Given the description of an element on the screen output the (x, y) to click on. 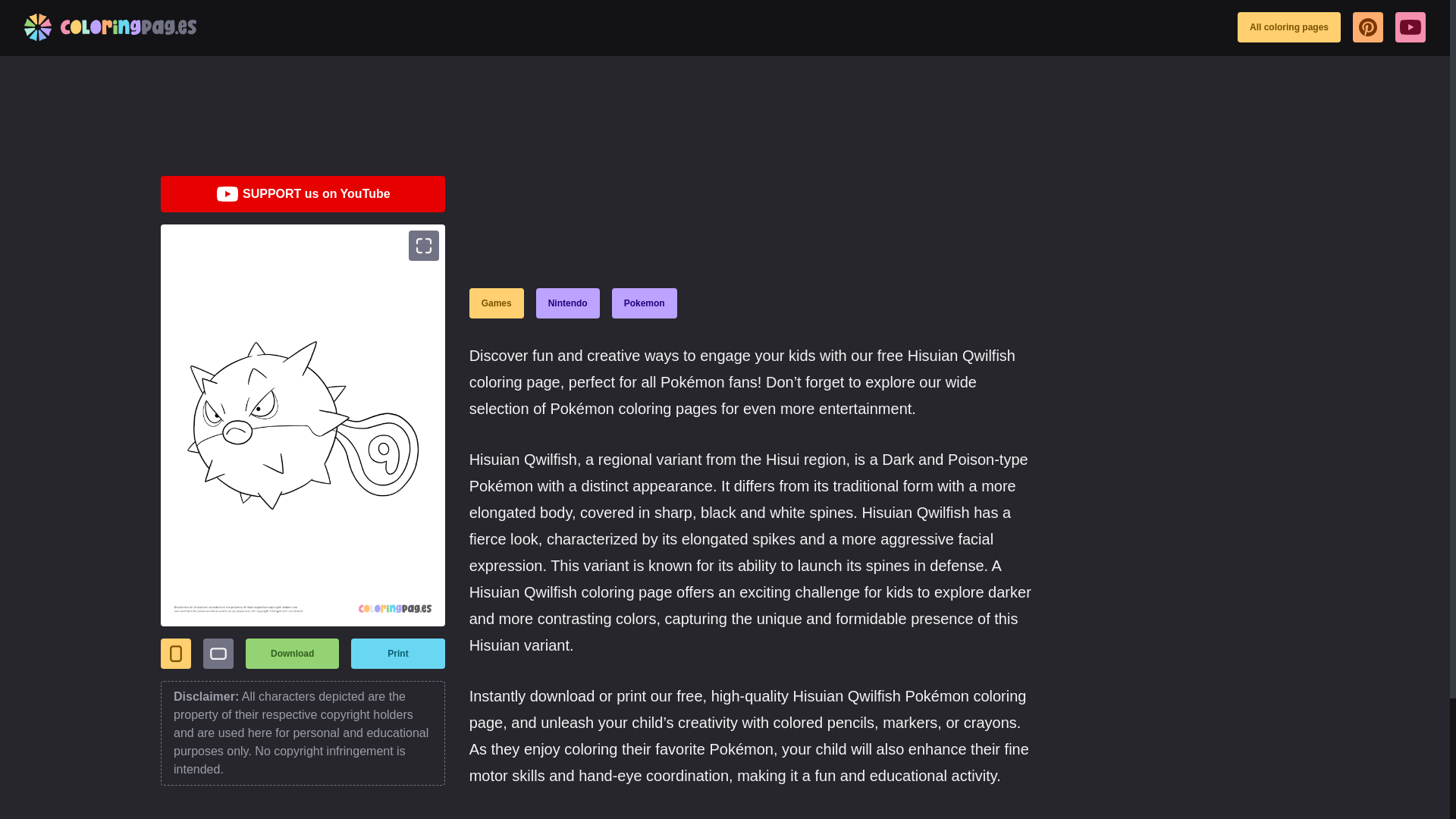
SUPPORT us on YouTube (302, 194)
All coloring pages (1288, 27)
Download (292, 653)
Advertisement (436, 114)
Nintendo (567, 303)
Pokemon (644, 303)
Games (496, 303)
